Given the description of an element on the screen output the (x, y) to click on. 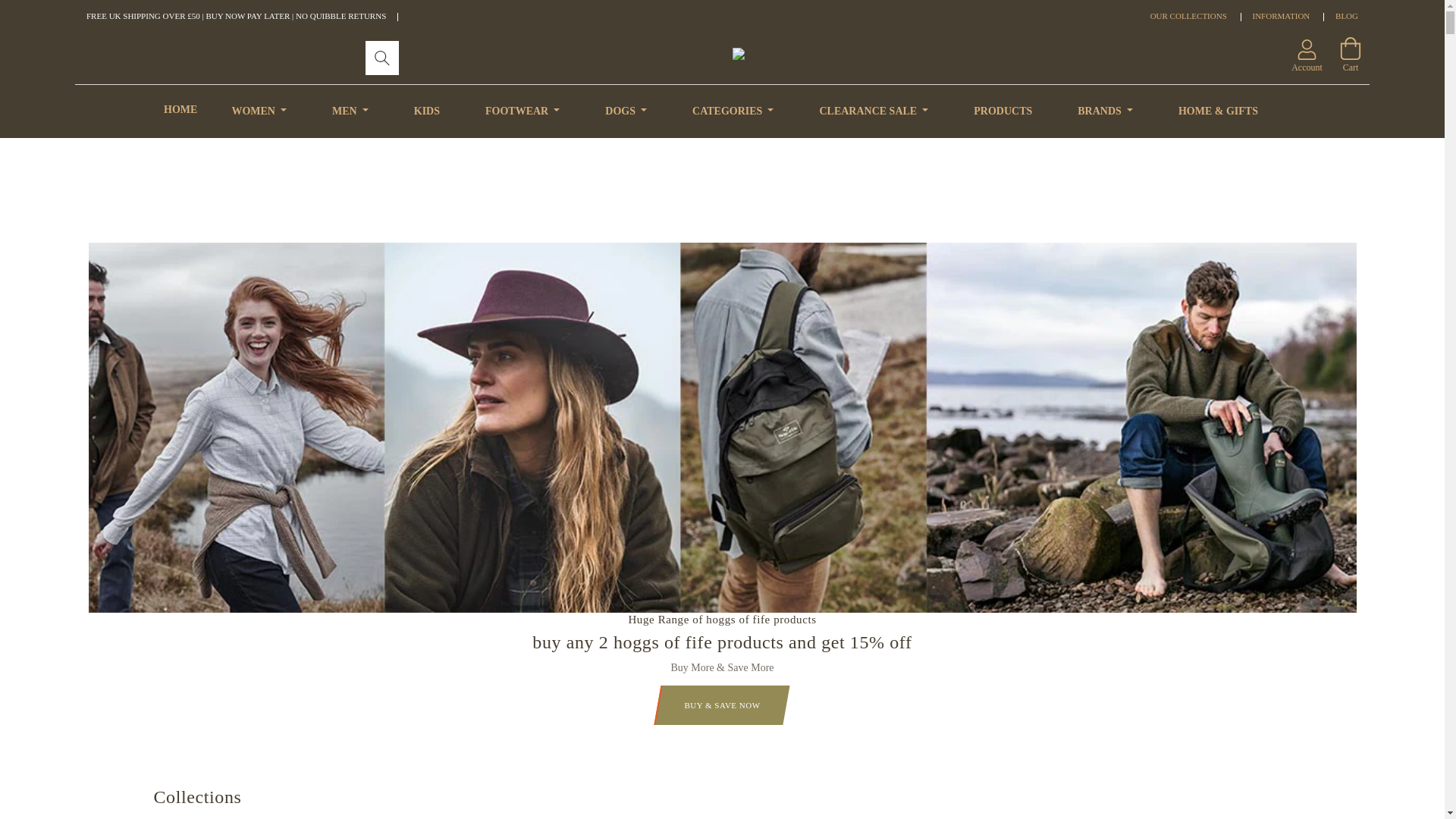
WOMEN (258, 111)
OUR COLLECTIONS (1188, 15)
INformation (1281, 15)
BLOG (1346, 15)
Blog (1346, 15)
HOME (185, 110)
Our Collections (1188, 15)
MEN (349, 111)
Cart (1350, 47)
INFORMATION (1281, 15)
